Given the description of an element on the screen output the (x, y) to click on. 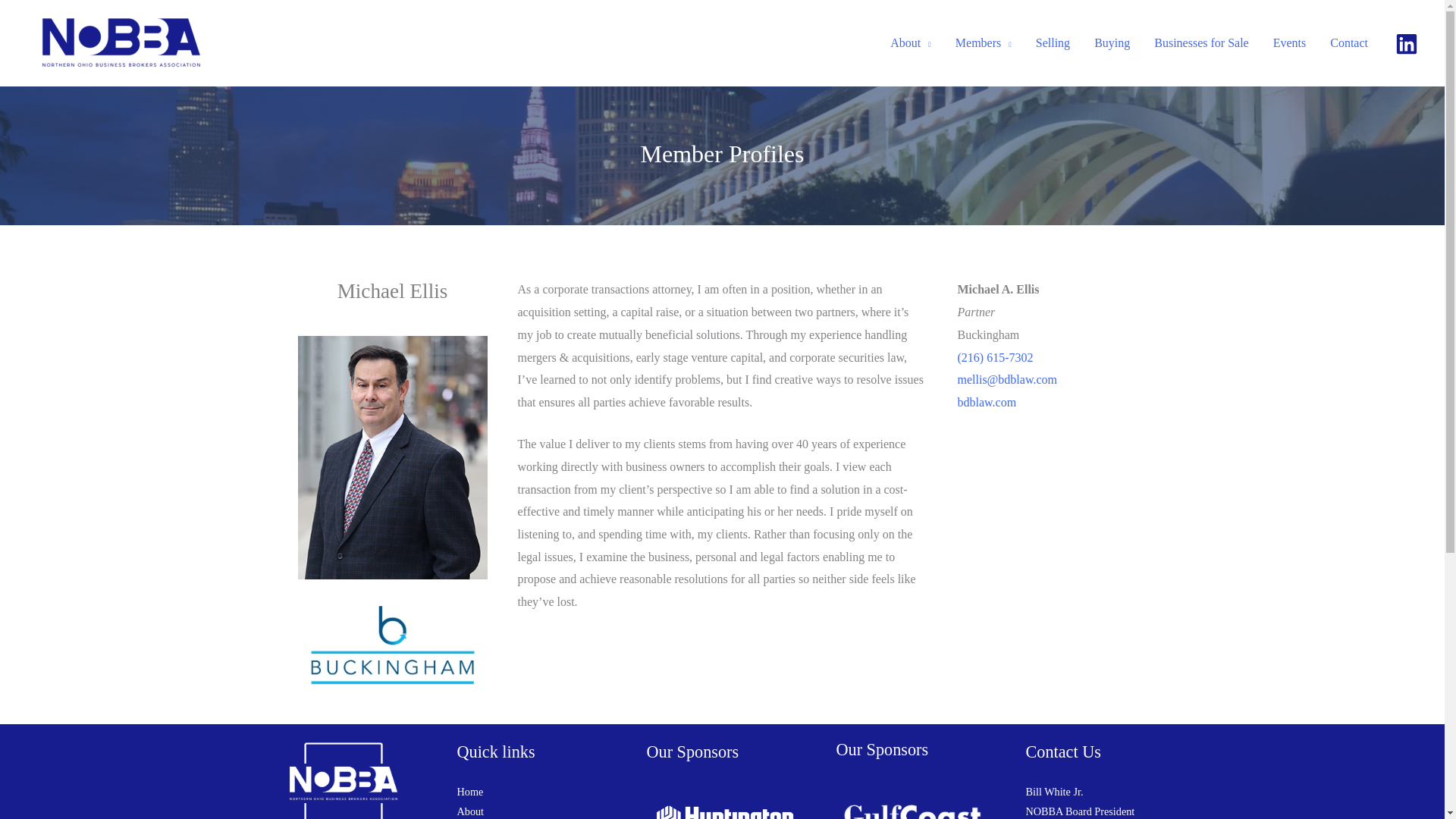
Businesses for Sale (1200, 43)
bdblaw-logo-social (391, 643)
About (910, 43)
Members (983, 43)
Selling (1052, 43)
Buying (1111, 43)
Contact (1348, 43)
Events (1289, 43)
